Given the description of an element on the screen output the (x, y) to click on. 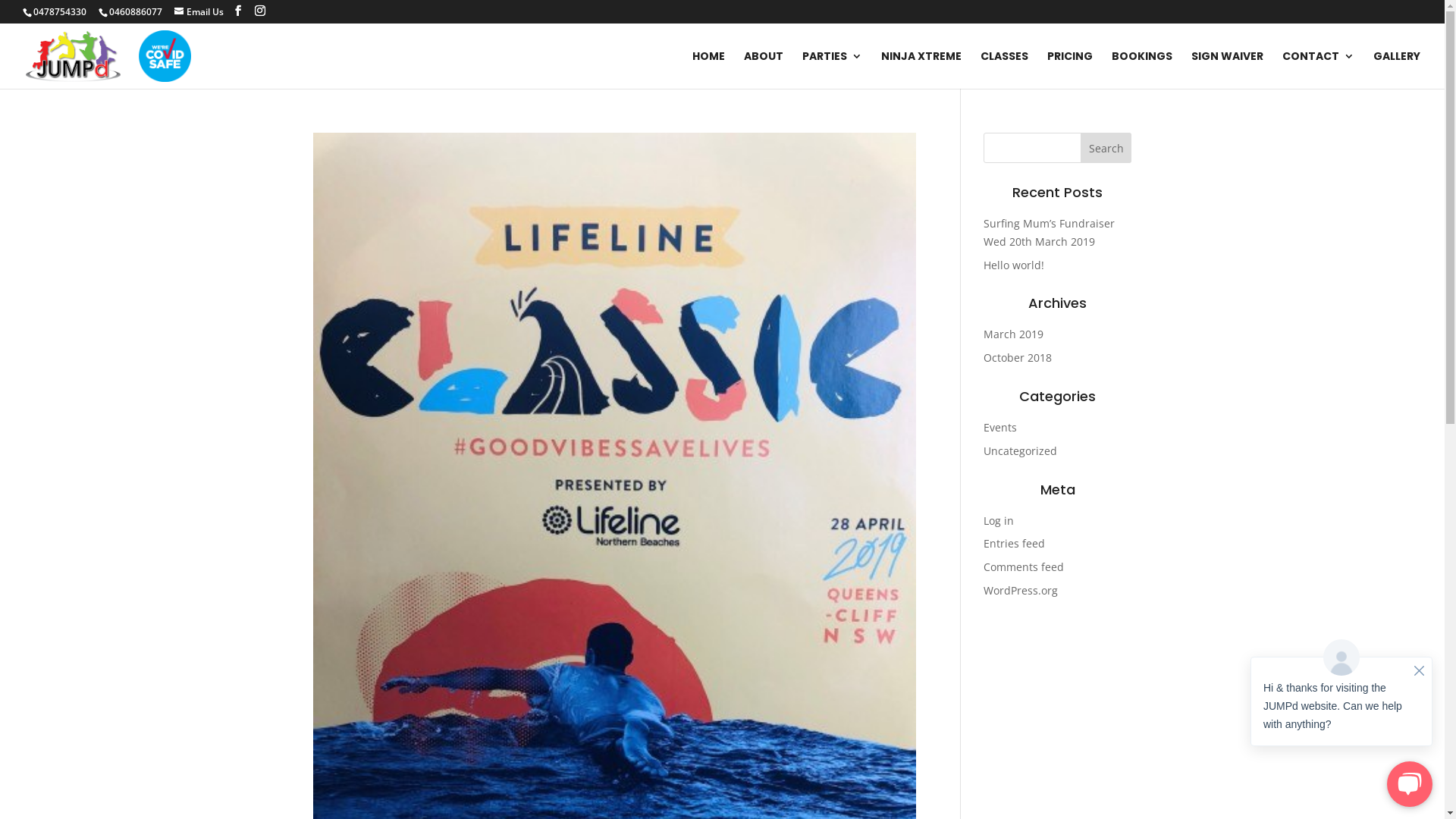
Search Element type: text (1106, 147)
0478754330 Element type: text (59, 11)
Uncategorized Element type: text (1020, 450)
March 2019 Element type: text (1013, 333)
SIGN WAIVER Element type: text (1227, 69)
WordPress.org Element type: text (1020, 590)
CLASSES Element type: text (1004, 69)
BOOKINGS Element type: text (1141, 69)
GALLERY Element type: text (1396, 69)
Hello world! Element type: text (1013, 264)
NINJA XTREME Element type: text (921, 69)
Entries feed Element type: text (1013, 543)
PARTIES Element type: text (832, 69)
Comments feed Element type: text (1023, 566)
Email Us Element type: text (198, 11)
PRICING Element type: text (1069, 69)
ABOUT Element type: text (763, 69)
0460886077 Element type: text (135, 11)
HOME Element type: text (708, 69)
Log in Element type: text (998, 520)
October 2018 Element type: text (1017, 357)
CONTACT Element type: text (1318, 69)
Events Element type: text (999, 427)
